Given the description of an element on the screen output the (x, y) to click on. 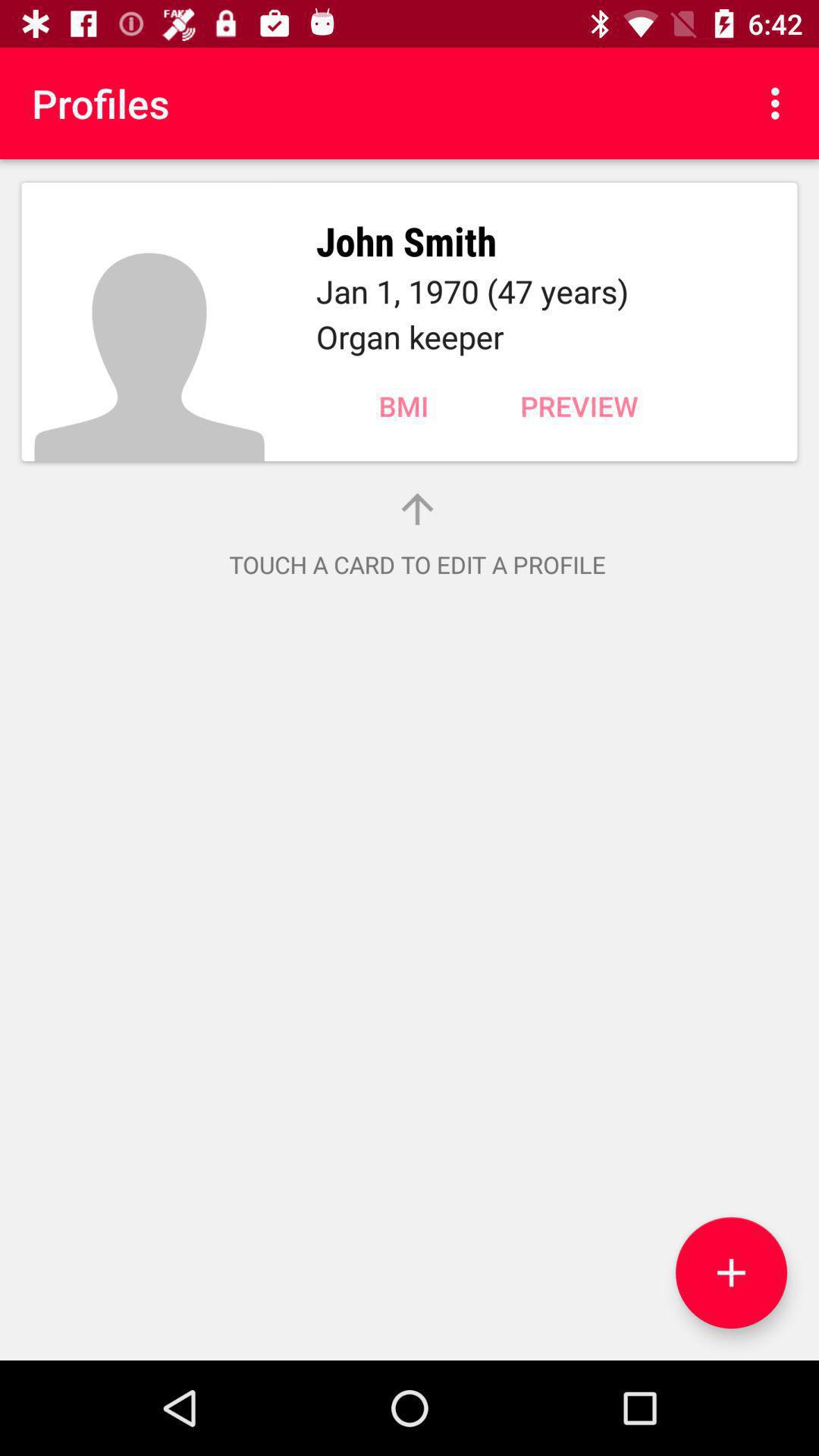
turn on the icon at the bottom right corner (731, 1272)
